Given the description of an element on the screen output the (x, y) to click on. 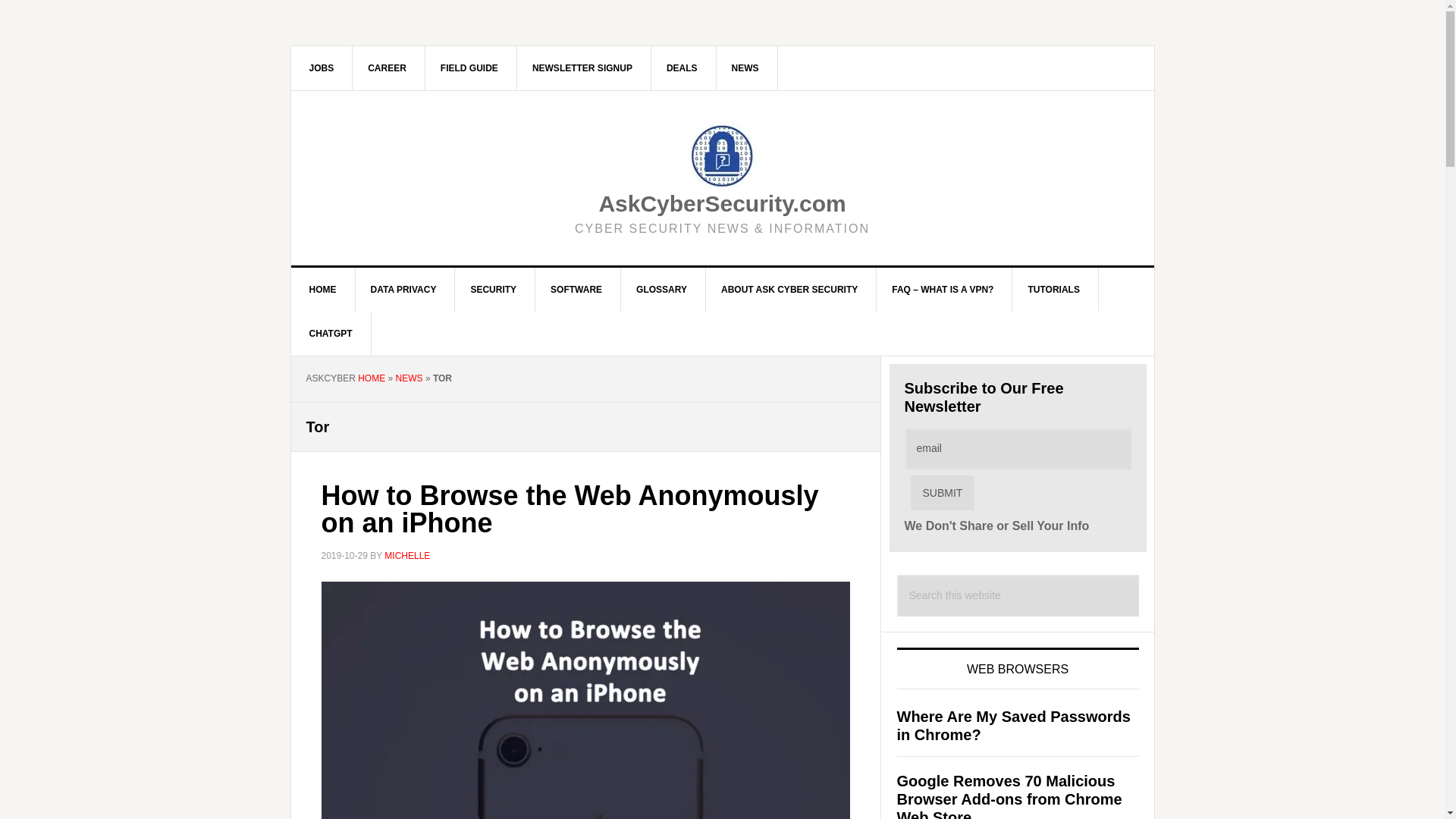
GLOSSARY (661, 289)
Deals (681, 67)
What is Cyber Security? (493, 289)
HOME (323, 289)
DATA PRIVACY (403, 289)
News (745, 67)
Submit (942, 492)
Computer Security While Traveling (469, 67)
JOBS (322, 67)
CAREER (387, 67)
FIELD GUIDE (469, 67)
NEWSLETTER SIGNUP (581, 67)
SECURITY (493, 289)
email (1017, 448)
